Given the description of an element on the screen output the (x, y) to click on. 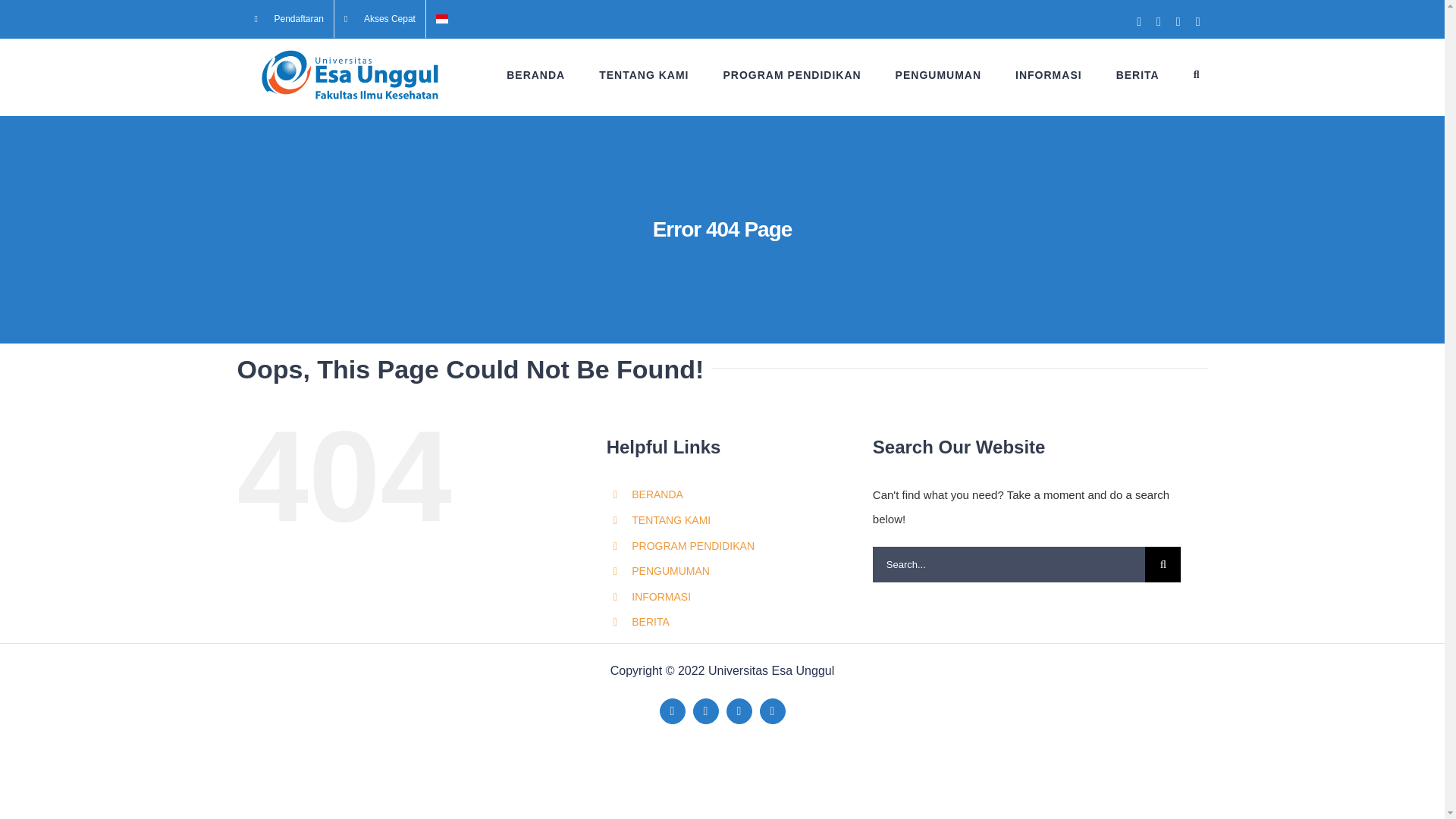
PROGRAM PENDIDIKAN (791, 74)
Akses Cepat (379, 18)
Instagram (773, 710)
YouTube (739, 710)
Twitter (706, 710)
Pendaftaran (288, 18)
TENTANG KAMI (643, 74)
PENGUMUMAN (938, 74)
Facebook (672, 710)
